Given the description of an element on the screen output the (x, y) to click on. 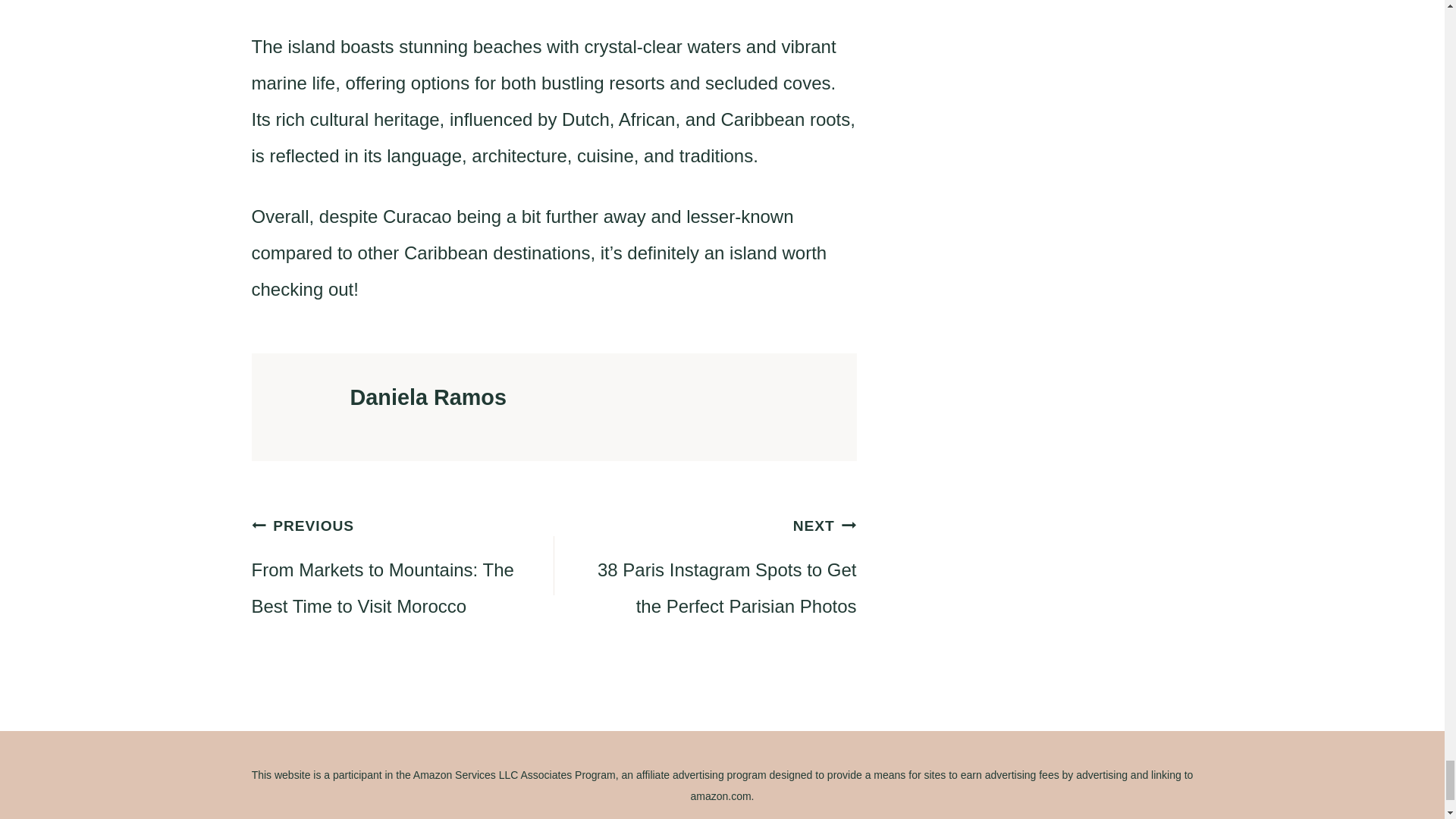
Posts by Daniela Ramos (428, 396)
